Given the description of an element on the screen output the (x, y) to click on. 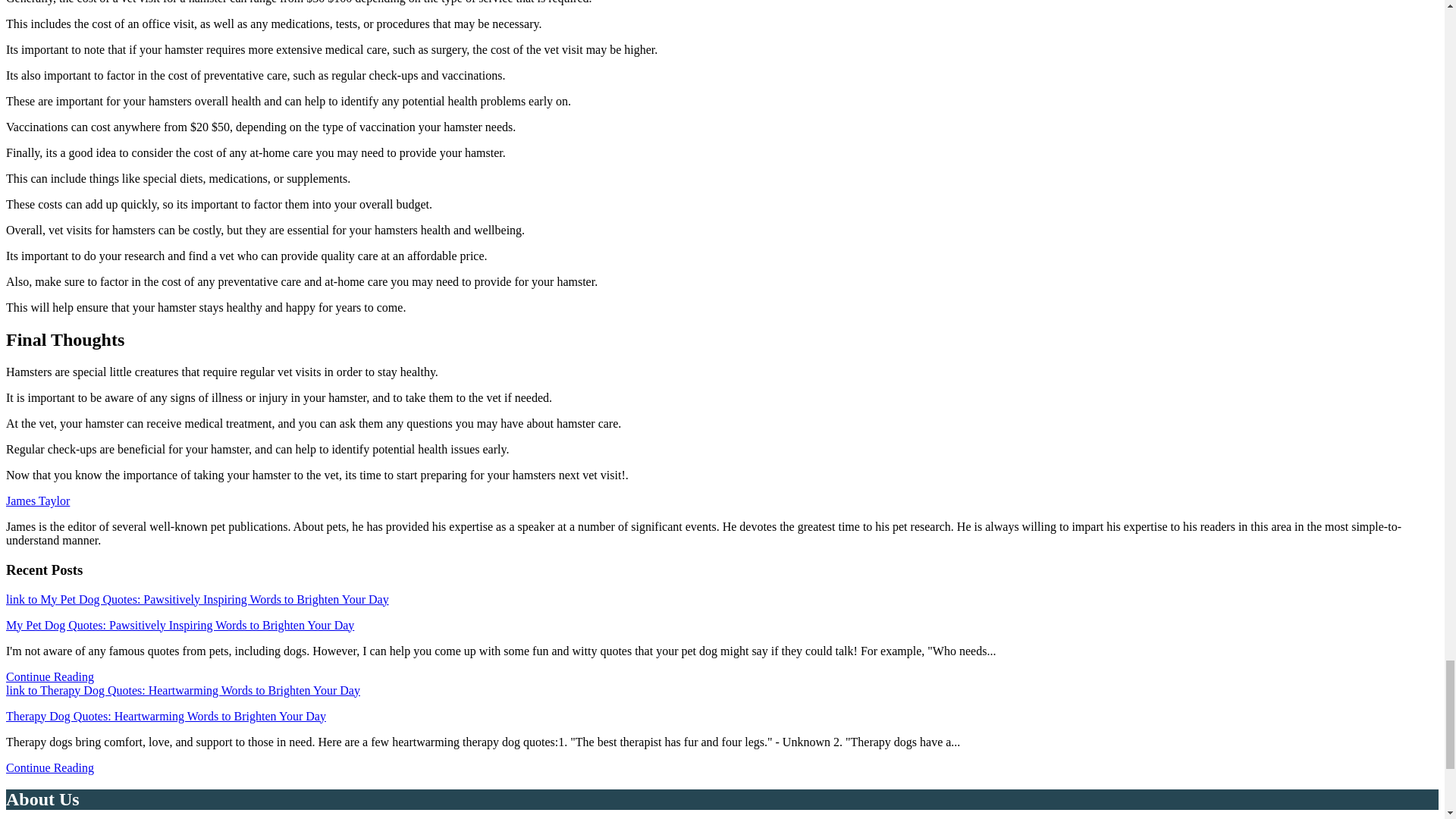
James Taylor (37, 500)
Continue Reading (49, 676)
Continue Reading (49, 767)
Therapy Dog Quotes: Heartwarming Words to Brighten Your Day (165, 716)
